Given the description of an element on the screen output the (x, y) to click on. 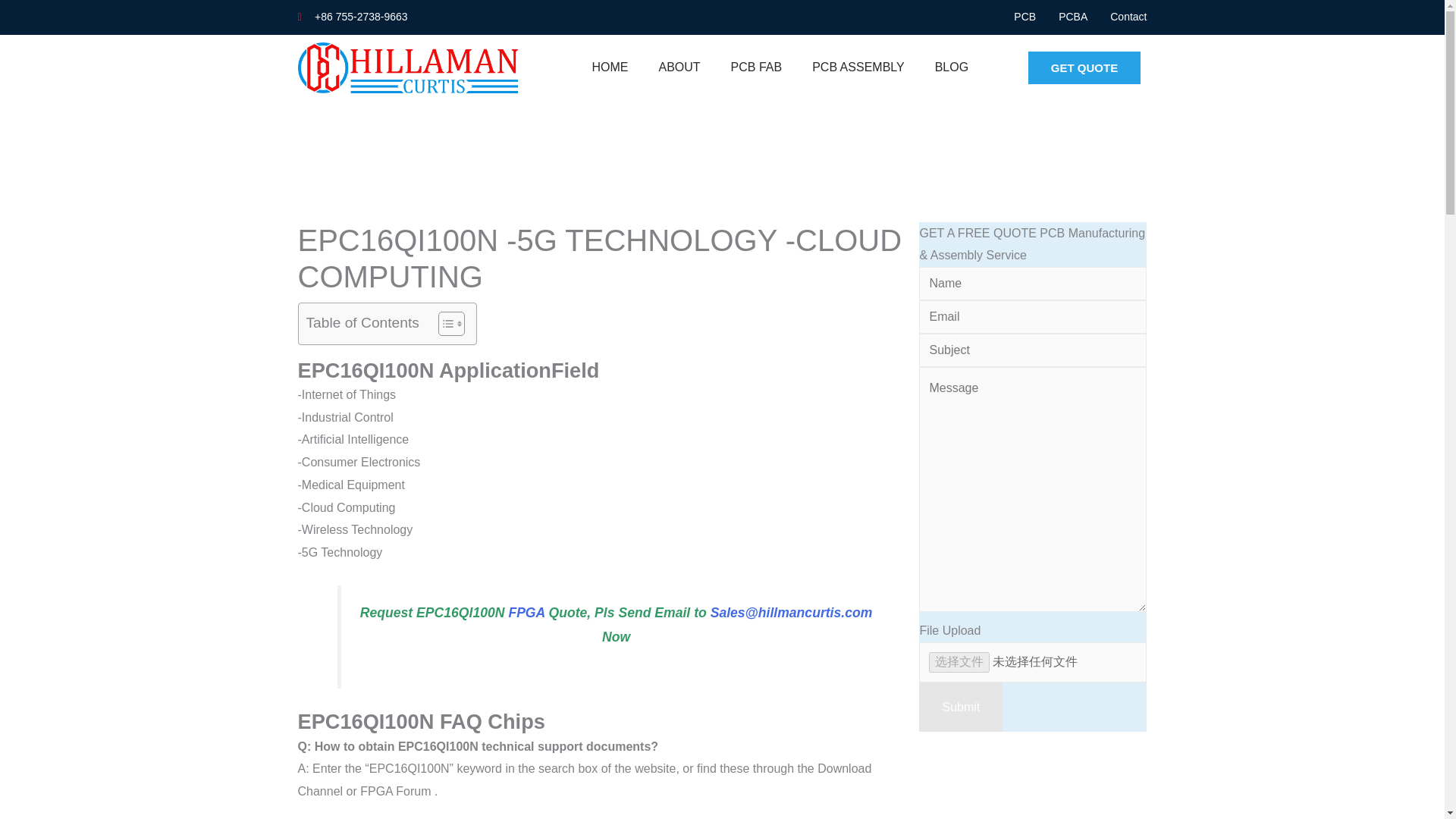
Contact (1128, 17)
FPGA (526, 612)
PCB (1024, 17)
Submit (960, 707)
HOME (609, 67)
PCBA (1072, 17)
Submit (960, 707)
BLOG (952, 67)
GET QUOTE (1083, 67)
PCB ASSEMBLY (858, 67)
PCB FAB (756, 67)
ABOUT (678, 67)
